Given the description of an element on the screen output the (x, y) to click on. 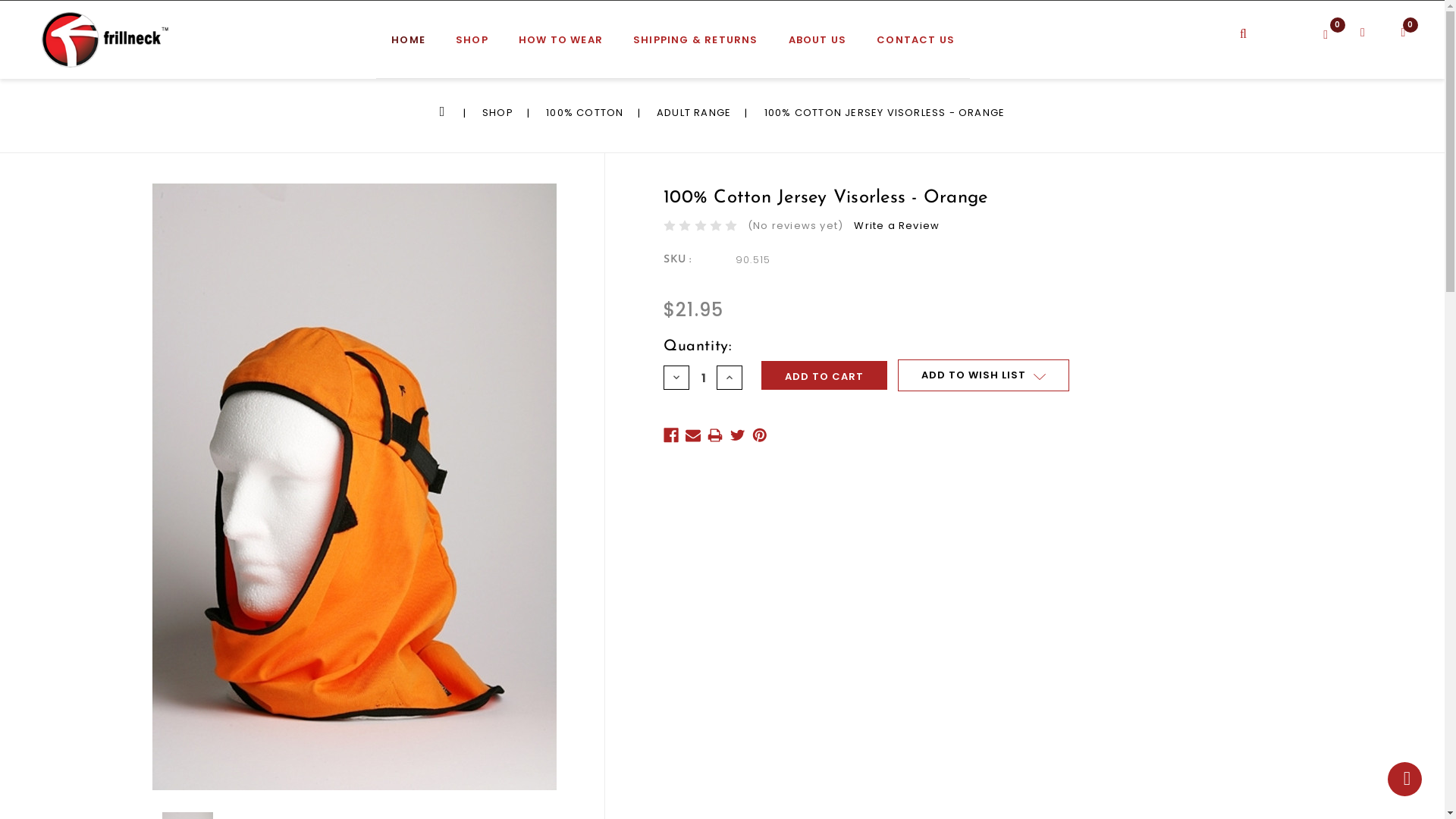
100% COTTON JERSEY VISORLESS - ORANGE Element type: text (884, 112)
ABOUT US Element type: text (817, 46)
INCREASE QUANTITY: Element type: text (729, 377)
HOME Element type: text (408, 46)
100% Cotton Jersey Visorless - Orange Element type: hover (354, 486)
SHOP Element type: text (497, 112)
Add to Cart Element type: text (824, 374)
CONTACT US Element type: text (915, 46)
100% COTTON Element type: text (584, 112)
HOW TO WEAR Element type: text (560, 46)
Frillneck Element type: hover (105, 39)
ADULT RANGE Element type: text (693, 112)
DECREASE QUANTITY: Element type: text (676, 377)
ADD TO WISH LIST Element type: text (983, 375)
Scroll Element type: text (1404, 779)
SEARCH Element type: text (1260, 22)
COMPARE 0 Element type: text (1337, 30)
SHOPPING CART
0 Element type: text (1396, 38)
SHOP Element type: text (471, 46)
Write a Review Element type: text (896, 225)
SHIPPING & RETURNS Element type: text (695, 46)
HOME Element type: text (444, 112)
